Given the description of an element on the screen output the (x, y) to click on. 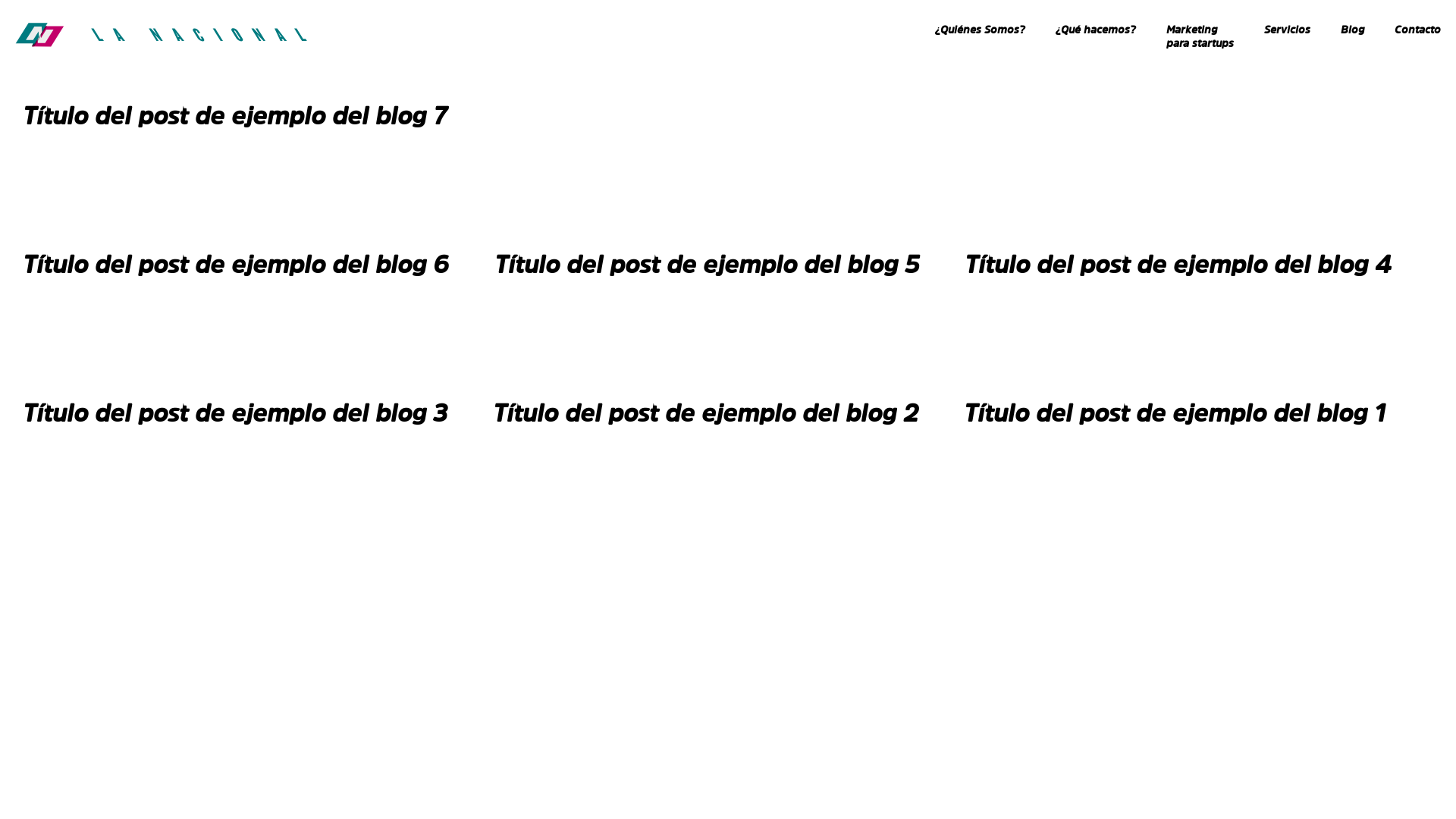
Marketing
para startups Element type: text (1199, 32)
Blog Element type: text (1352, 25)
Servicios Element type: text (1286, 25)
